Given the description of an element on the screen output the (x, y) to click on. 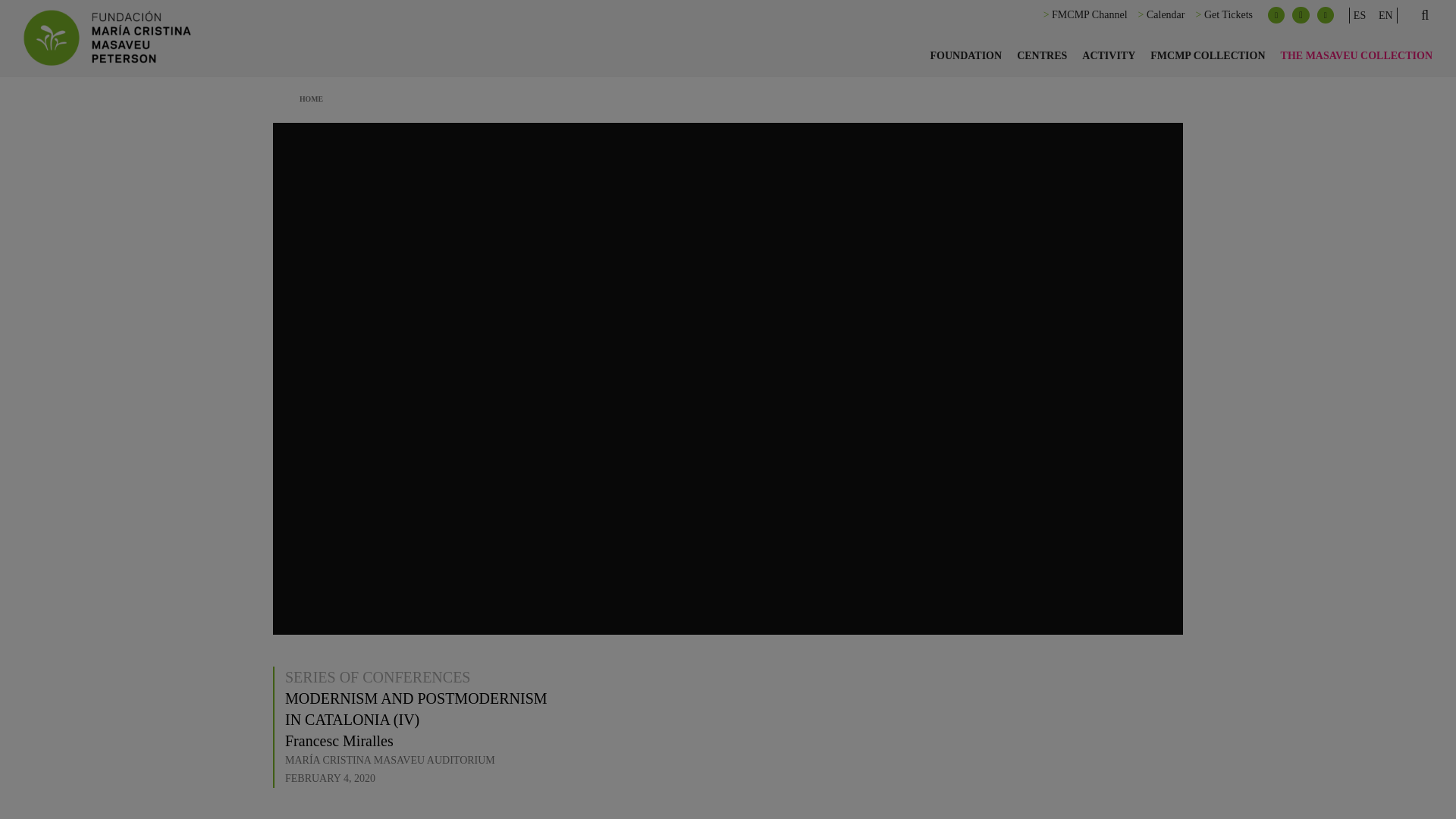
CENTRES (1041, 55)
ES (1359, 15)
ACTIVITY (1108, 55)
THE MASAVEU COLLECTION (1355, 55)
FMCMP COLLECTION (1207, 55)
FMCMP Channel (1088, 14)
Vimeo (1325, 14)
FOUNDATION (965, 55)
Instagram (1300, 14)
EN (1385, 15)
Calendar (1166, 14)
Facebook (1276, 14)
Get Tickets (1228, 14)
